Given the description of an element on the screen output the (x, y) to click on. 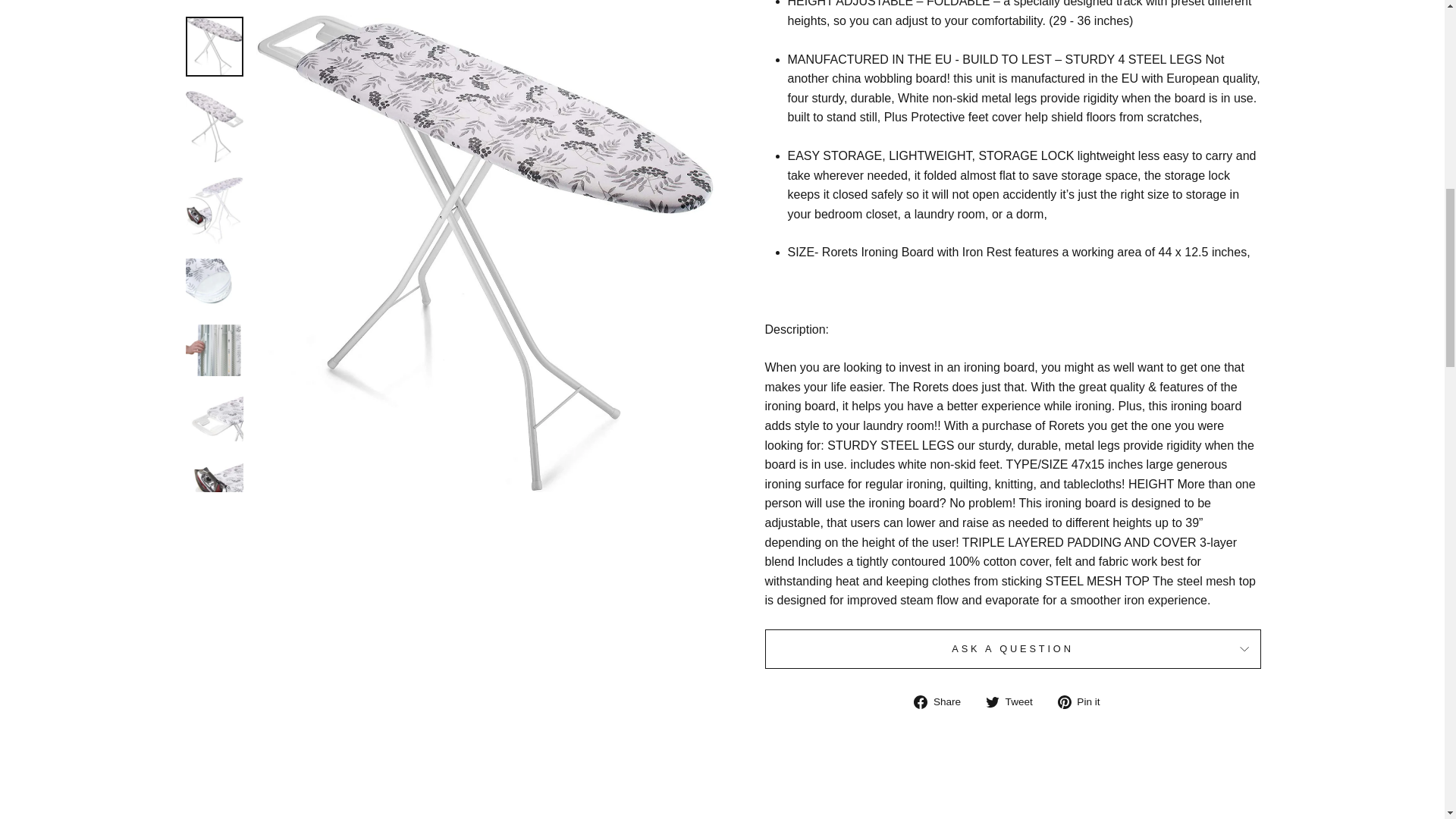
Share on Facebook (943, 701)
Pin on Pinterest (1085, 701)
Tweet on Twitter (1014, 701)
twitter (991, 702)
